Given the description of an element on the screen output the (x, y) to click on. 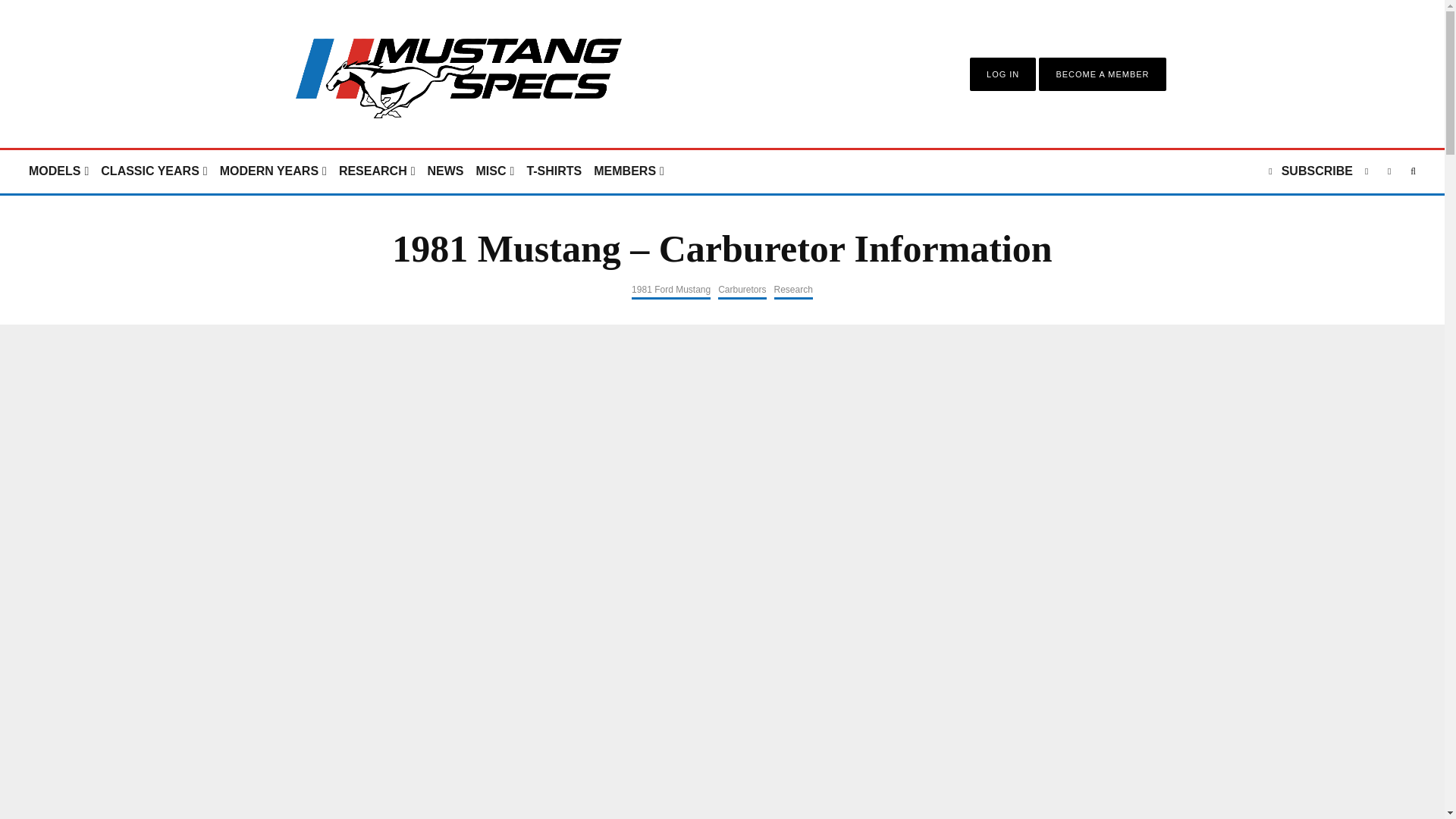
CLASSIC YEARS (153, 171)
MODELS (58, 171)
LOG IN (1003, 73)
BECOME A MEMBER (1101, 73)
